Given the description of an element on the screen output the (x, y) to click on. 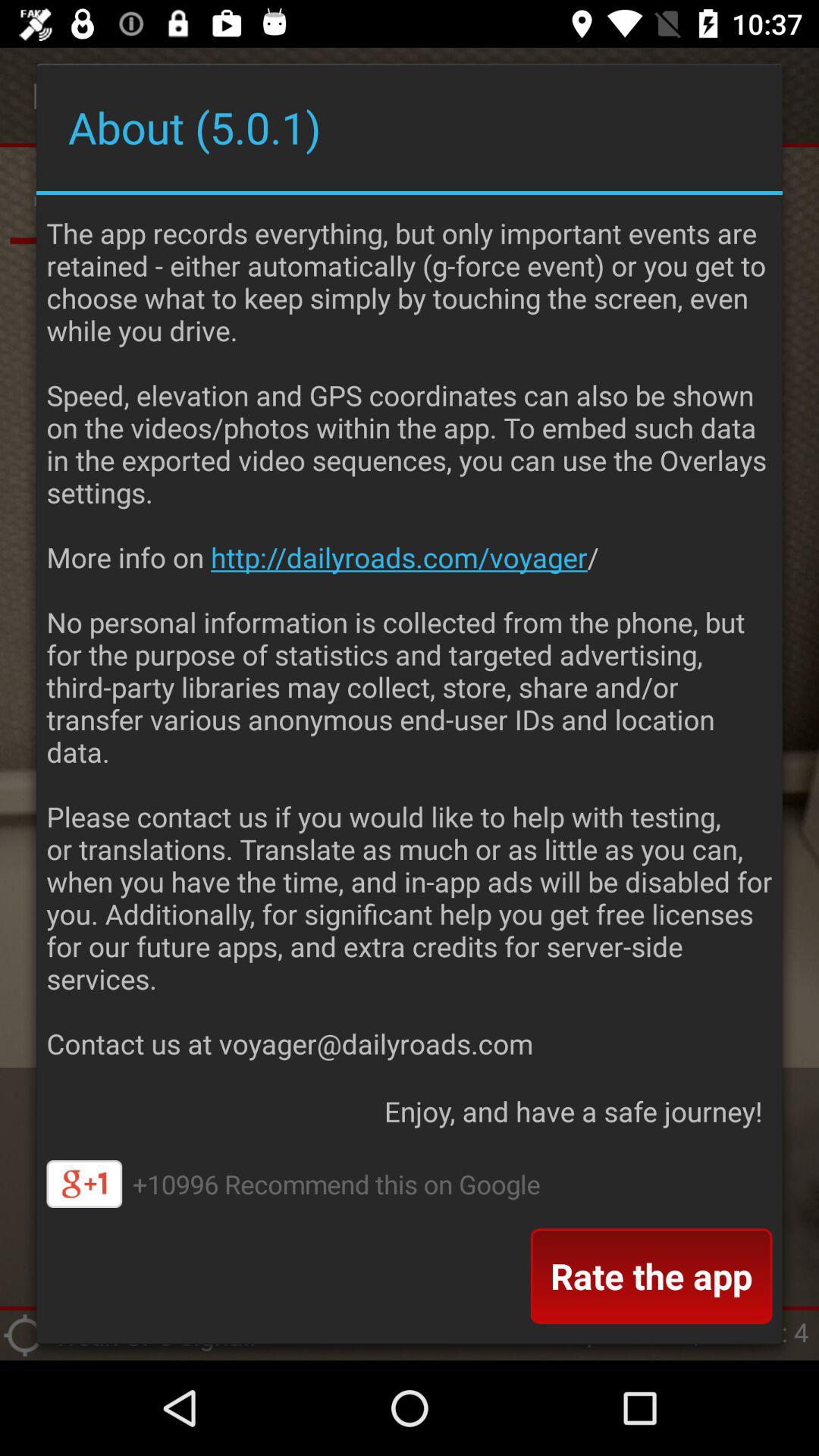
tap app above the enjoy and have (409, 633)
